Given the description of an element on the screen output the (x, y) to click on. 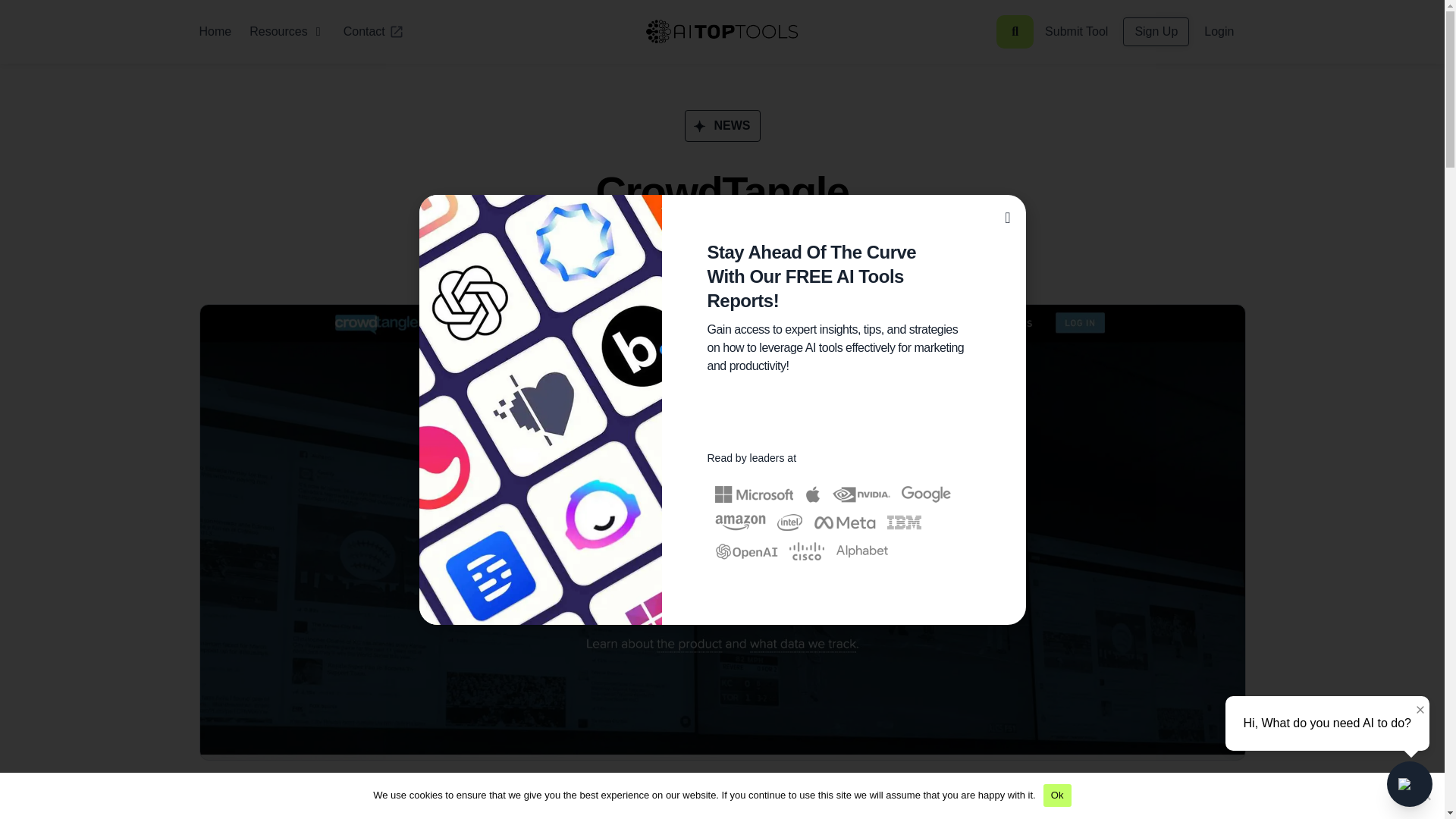
Resources (277, 31)
No (1425, 795)
Home (214, 31)
